Given the description of an element on the screen output the (x, y) to click on. 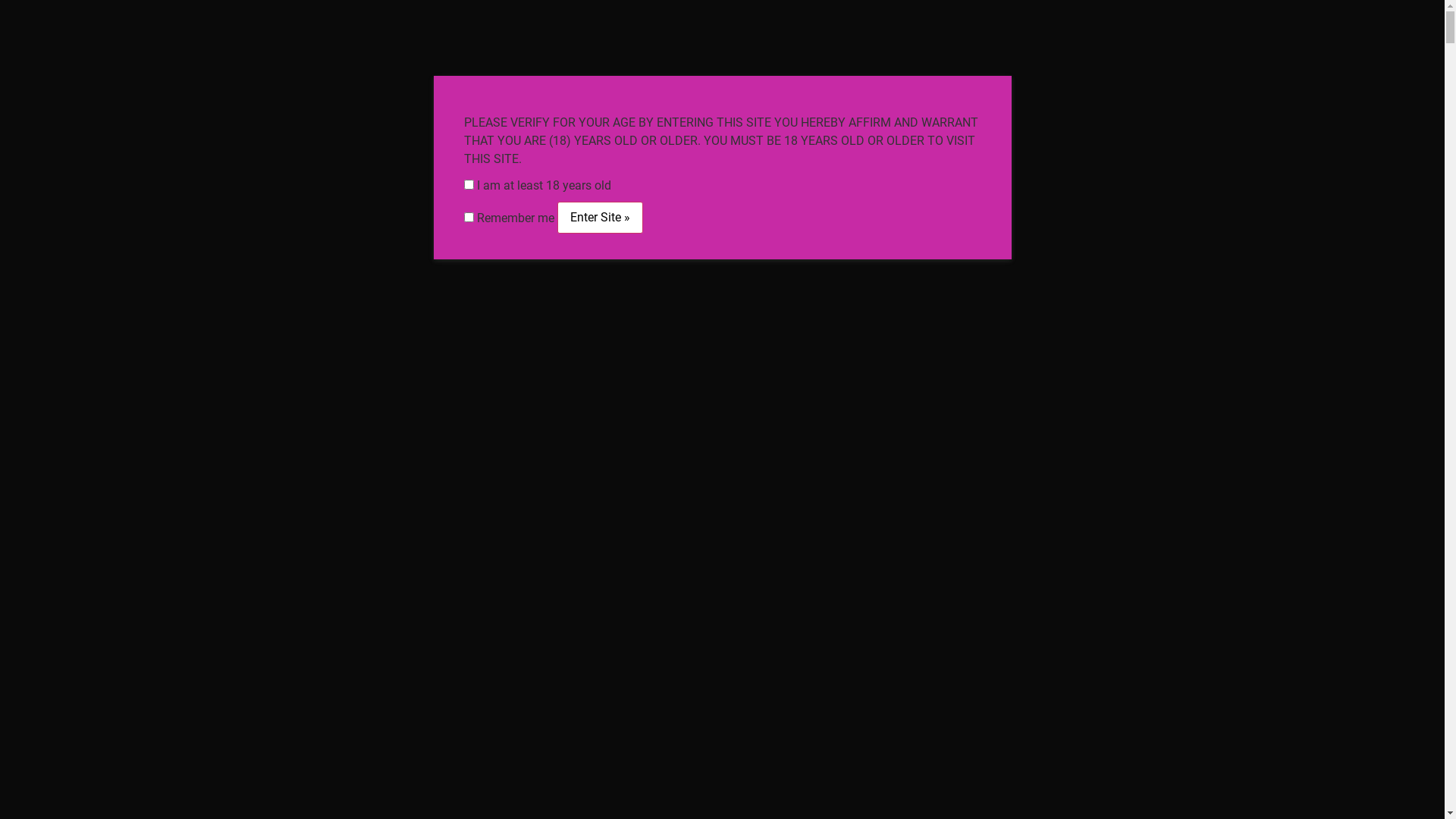
RATES Element type: text (922, 197)
ABOUT US Element type: text (262, 162)
MALE STRIPPERS Element type: text (1132, 162)
SKI TRIP STRIPPERS Element type: text (994, 162)
EMPLOYMENT Element type: text (329, 197)
PARTY GAMES & RENTALS Element type: text (698, 162)
GOLF CADDY STRIPPERS Element type: text (602, 197)
FEMALE STRIPPERS Element type: text (386, 162)
OUR MODELS Element type: text (917, 19)
BOOKINGS Element type: text (1242, 162)
FAQ Element type: text (1067, 197)
POLICY Element type: text (1130, 197)
PARTY IDEAS Element type: text (739, 197)
LOCATIONS Element type: text (840, 197)
LIMO Element type: text (487, 197)
BACHELOR PARTIES Element type: text (536, 162)
BLUE MOUNTAIN STRIPPERS ANGEL EYEZ Element type: text (721, 84)
VIDEOS Element type: text (421, 197)
HOME Element type: text (185, 162)
EXOTIC FEATURES Element type: text (855, 162)
CONTACT Element type: text (998, 197)
